Given the description of an element on the screen output the (x, y) to click on. 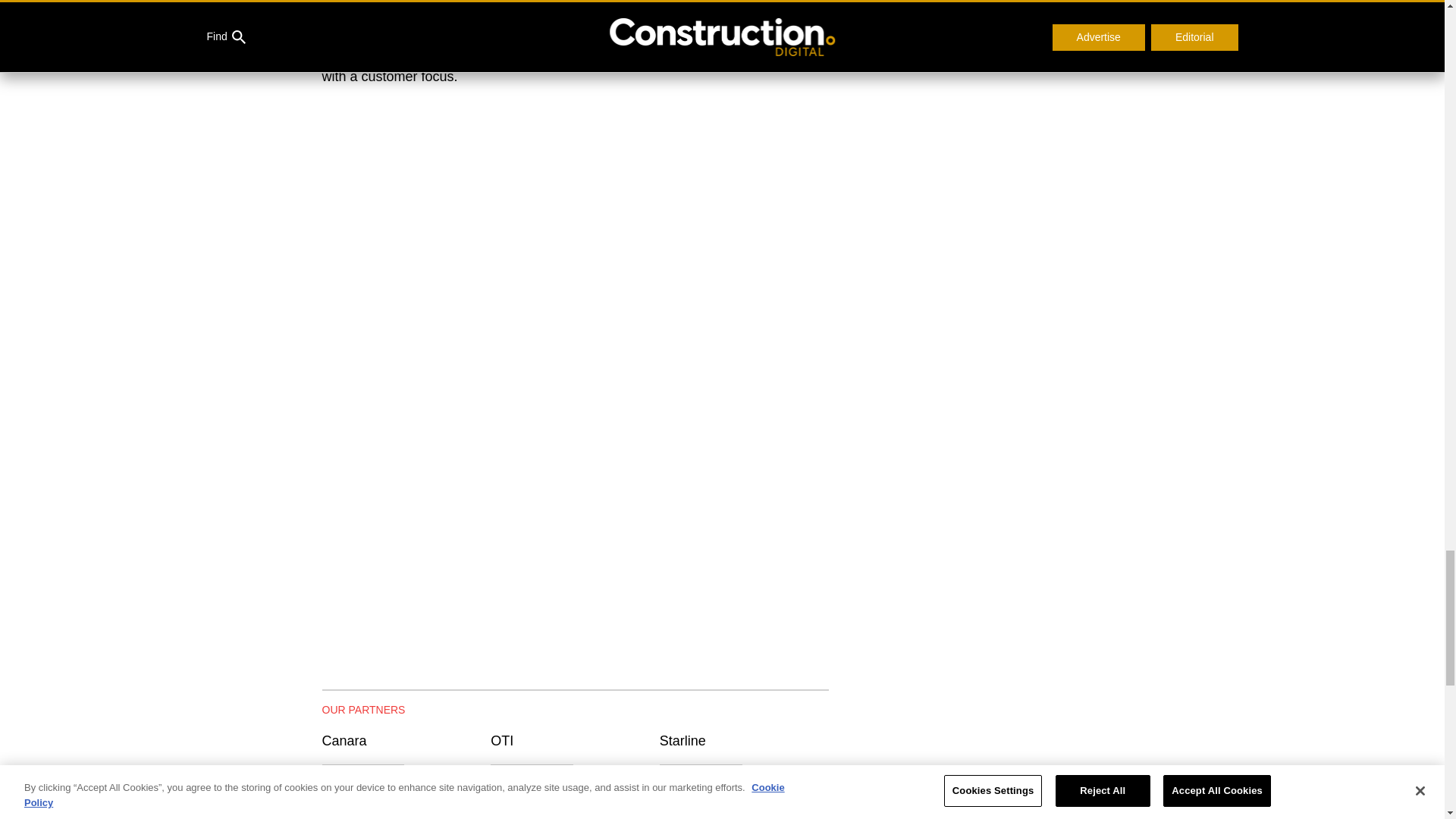
View profile (531, 778)
View profile (700, 778)
View profile (362, 778)
